Given the description of an element on the screen output the (x, y) to click on. 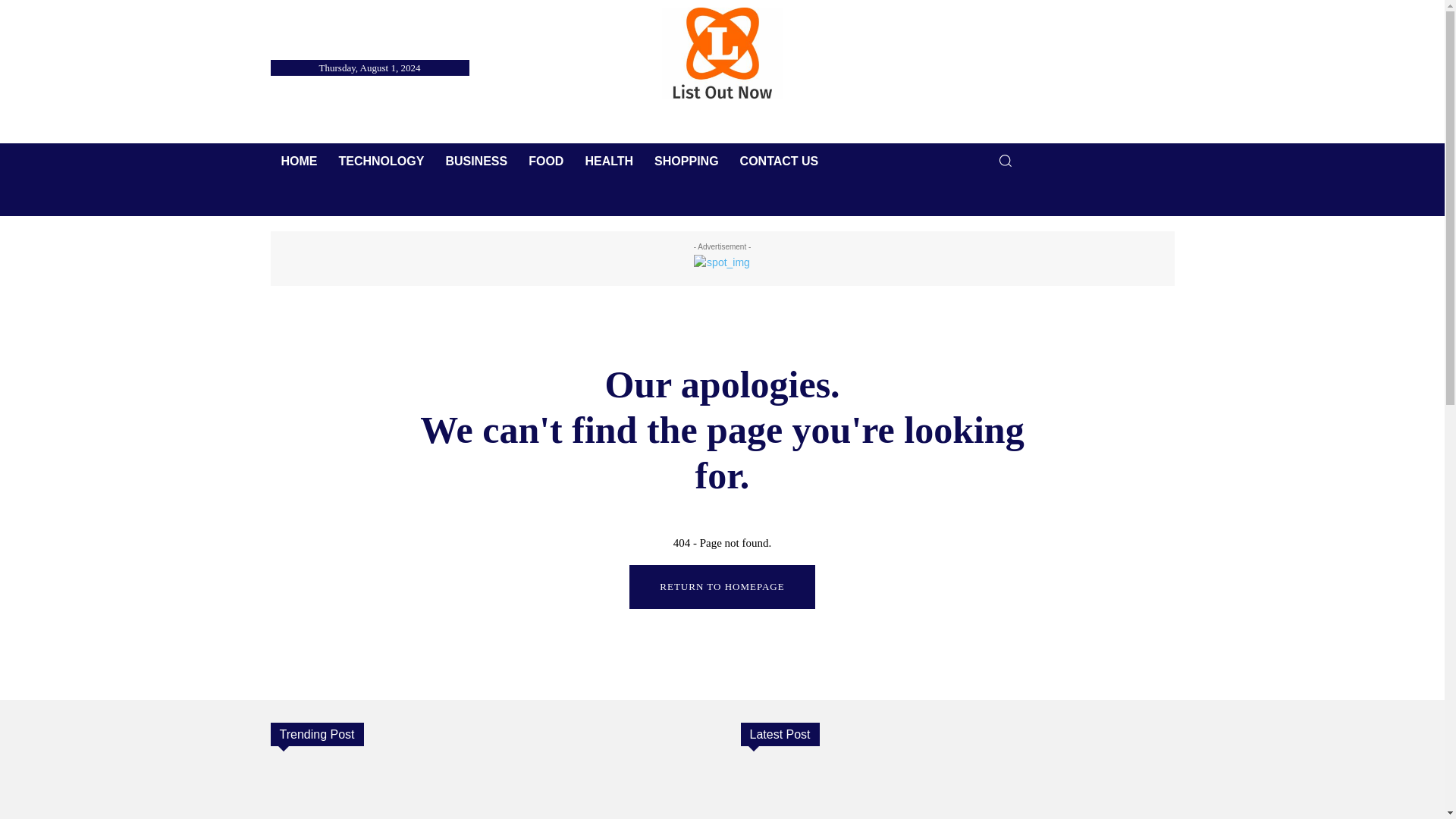
TECHNOLOGY (380, 161)
RETURN TO HOMEPAGE (720, 587)
HOME (298, 161)
Return to Homepage (720, 587)
HEALTH (608, 161)
CONTACT US (779, 161)
SHOPPING (686, 161)
FOOD (545, 161)
BUSINESS (475, 161)
